Given the description of an element on the screen output the (x, y) to click on. 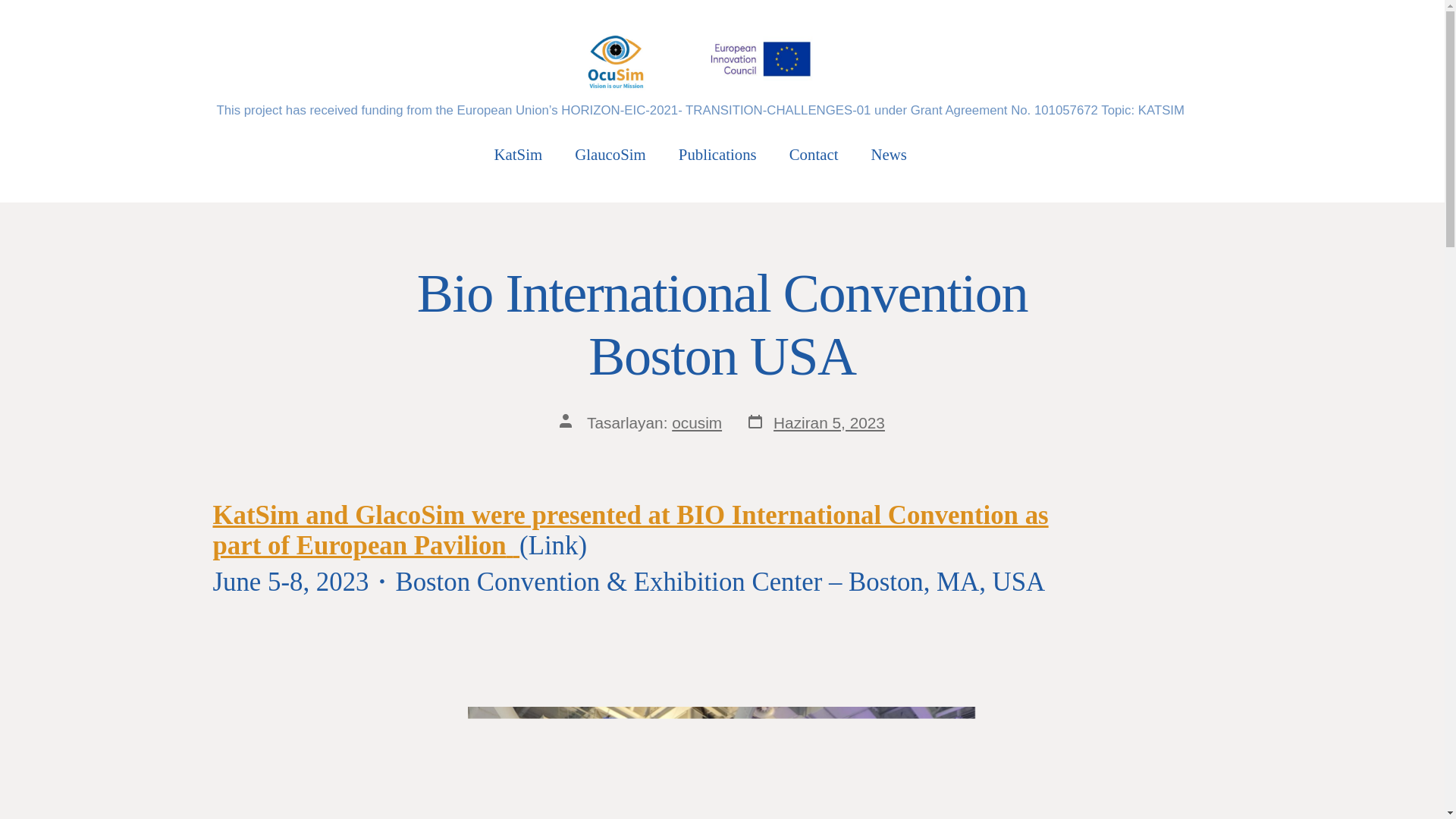
Contact (813, 154)
News (887, 154)
GlaucoSim (610, 154)
Publications (717, 154)
ocusim (696, 422)
KatSim (519, 154)
